Given the description of an element on the screen output the (x, y) to click on. 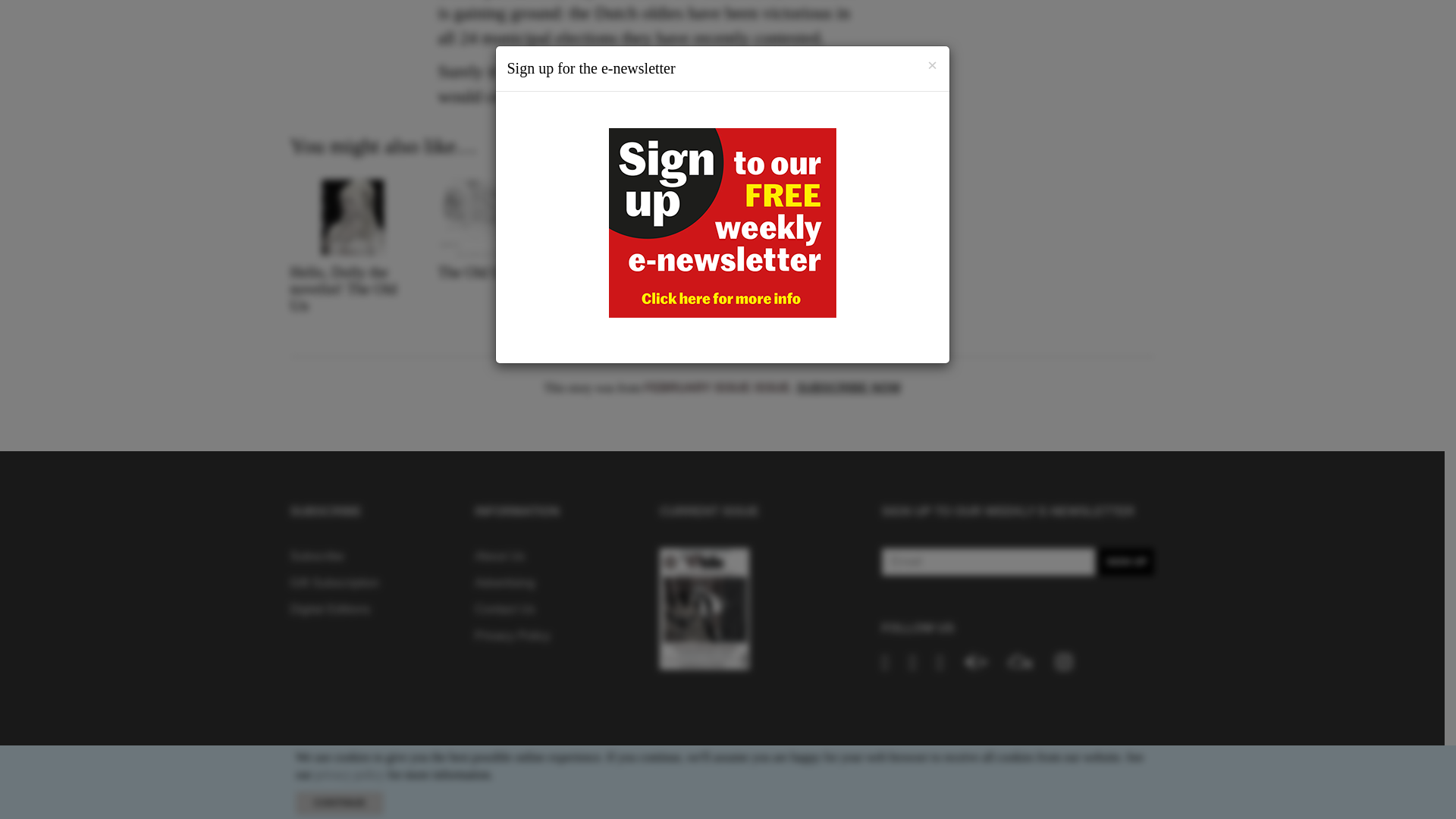
Instagram (1063, 662)
Icons8 (1063, 662)
